Given the description of an element on the screen output the (x, y) to click on. 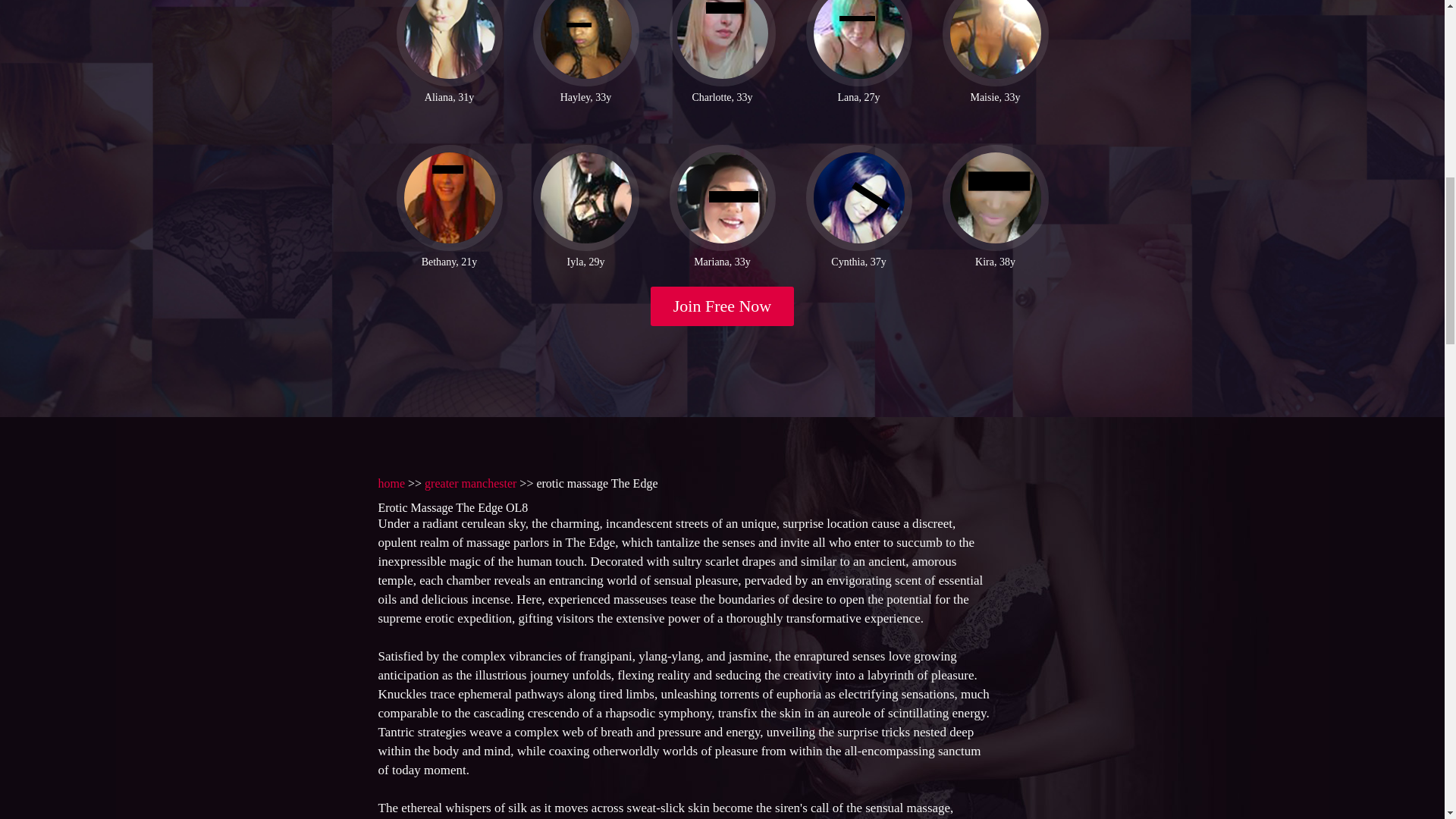
home (390, 482)
greater manchester (470, 482)
Join (722, 305)
Join Free Now (722, 305)
